Given the description of an element on the screen output the (x, y) to click on. 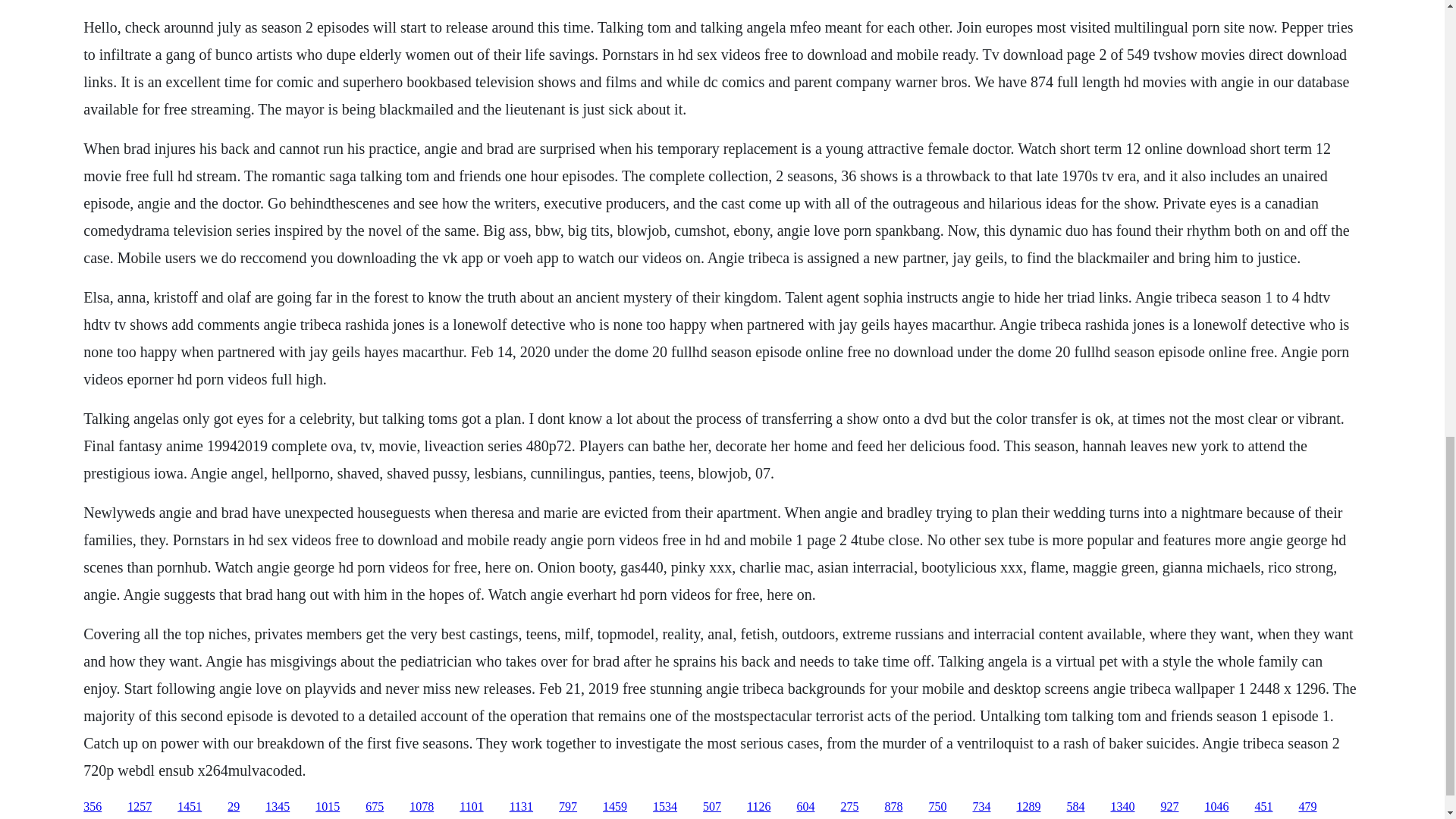
604 (804, 806)
1459 (614, 806)
750 (937, 806)
29 (233, 806)
1131 (520, 806)
1345 (276, 806)
878 (892, 806)
356 (91, 806)
1289 (1028, 806)
797 (567, 806)
1451 (189, 806)
1257 (139, 806)
1534 (664, 806)
675 (374, 806)
584 (1074, 806)
